Given the description of an element on the screen output the (x, y) to click on. 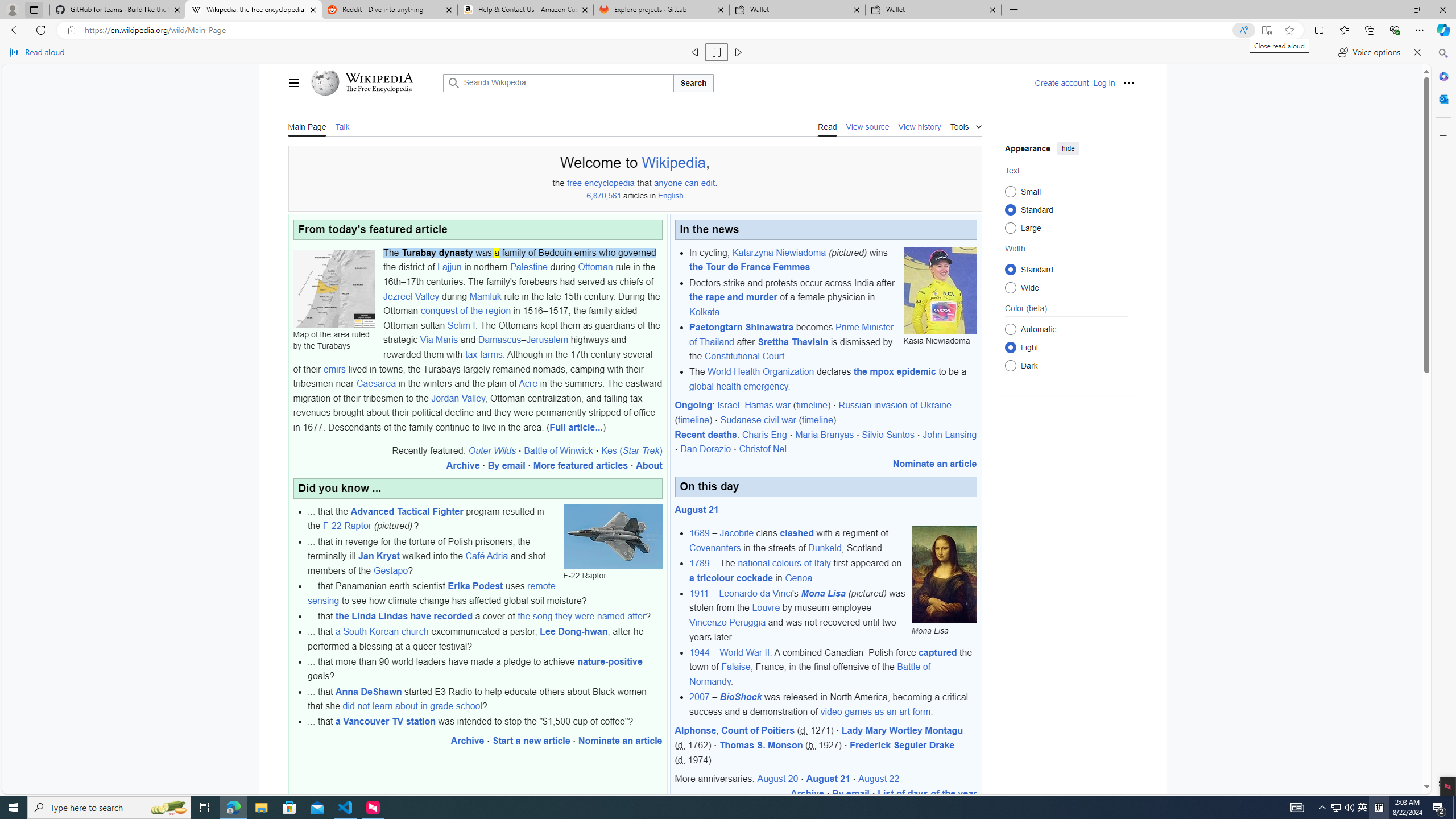
Wikipedia The Free Encyclopedia (373, 82)
the Tour de France Femmes (749, 267)
Read (827, 125)
tax farms (483, 353)
6,870,561 (603, 195)
Log in (1104, 82)
Damascus (499, 339)
Louvre (765, 607)
